Given the description of an element on the screen output the (x, y) to click on. 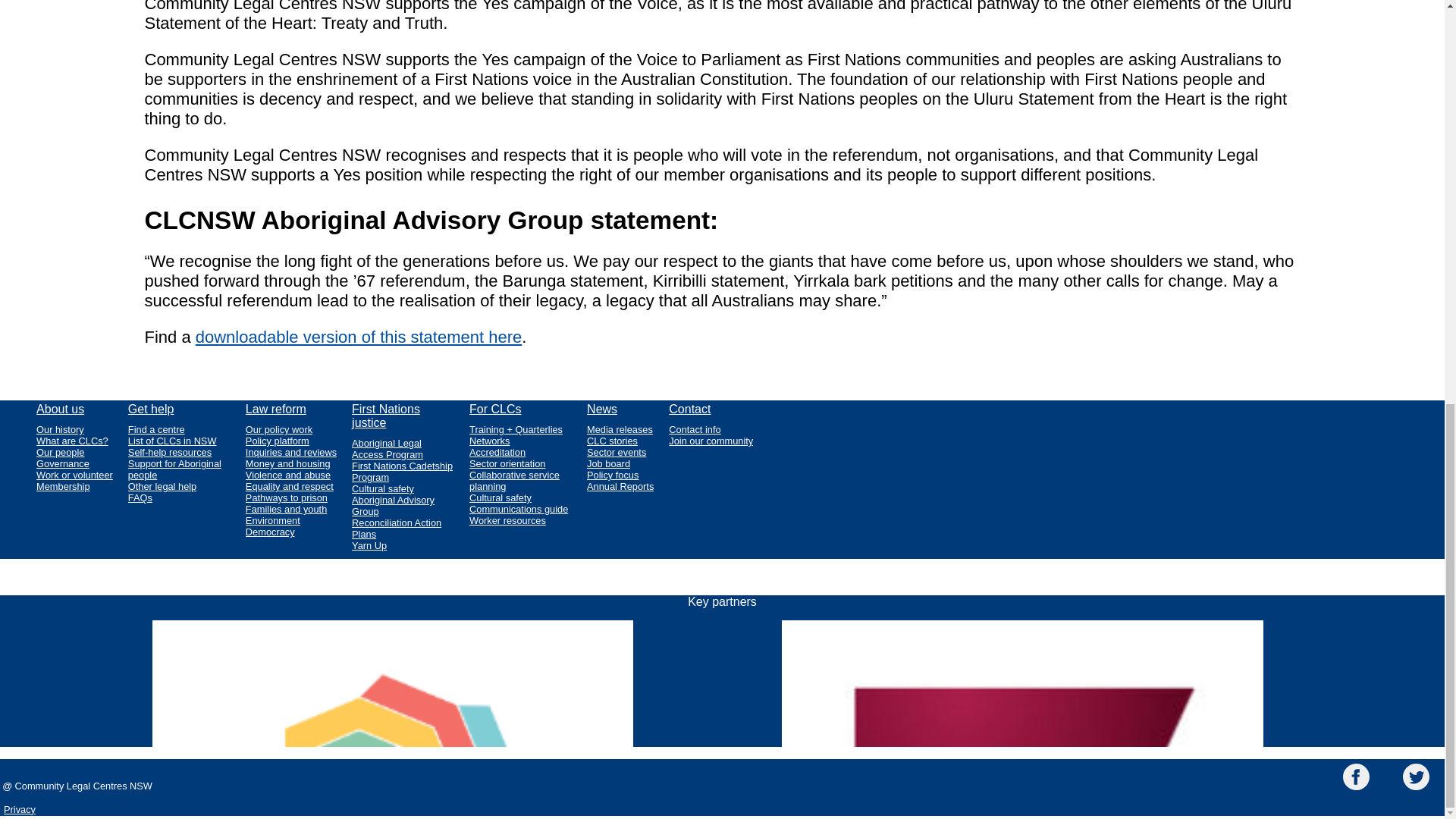
Find legal help (179, 413)
Find legal help - for Aboriginal people (179, 468)
Events (619, 451)
History of community legal centres in NSW (74, 429)
Facebook (1355, 778)
About Community Legal Centres NSW (74, 413)
Frequently asked questions (179, 497)
Cultural Safety for CLCs in NSW (520, 497)
